Given the description of an element on the screen output the (x, y) to click on. 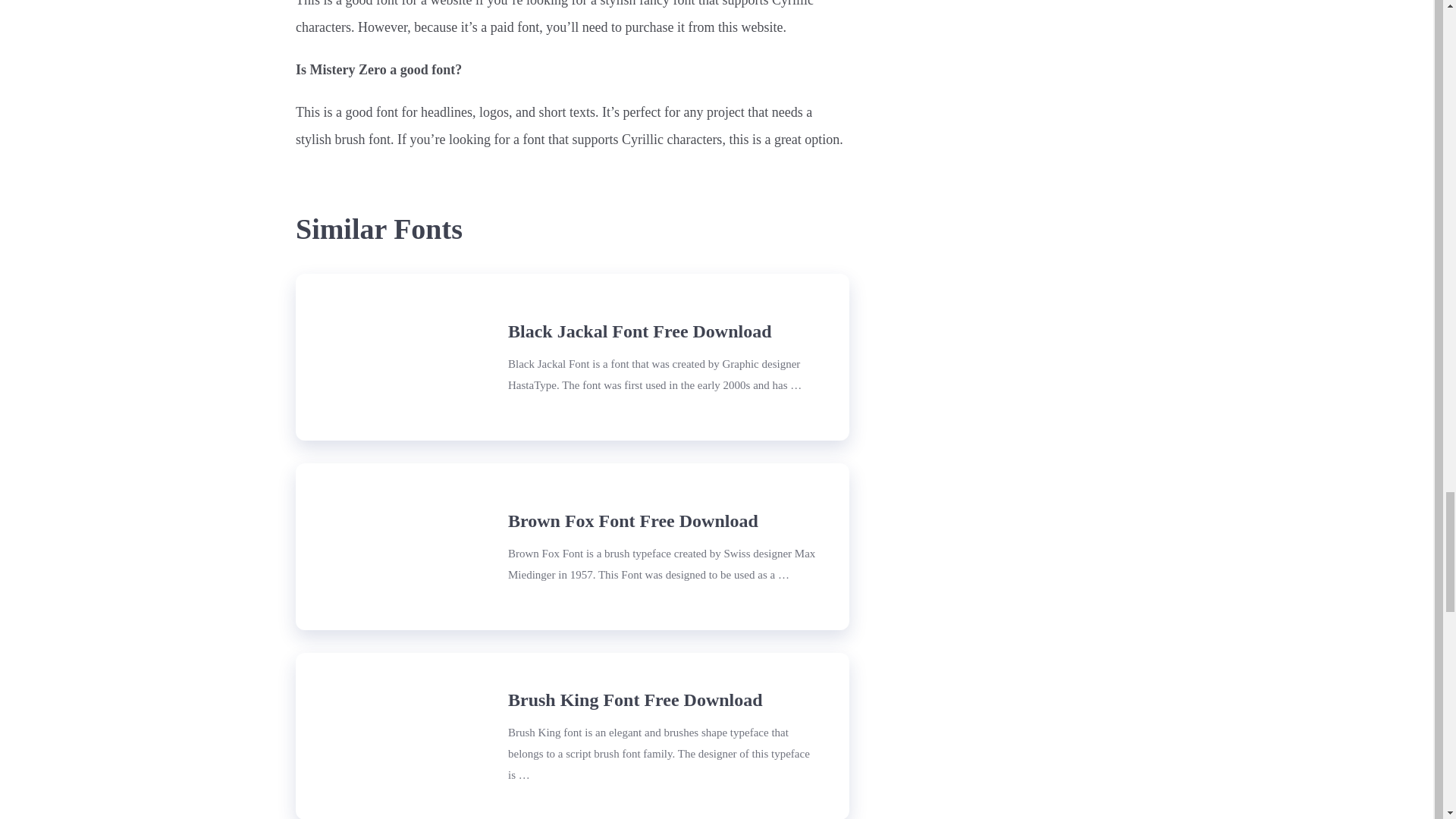
Brown Fox Font Free Download (633, 521)
Black Jackal Font Free Download (389, 356)
Brown Fox Font Free Download (389, 546)
Brush King Font Free Download (389, 735)
Brush King Font Free Download (635, 700)
Black Jackal Font Free Download (639, 332)
Black Jackal Font Free Download (639, 332)
Brown Fox Font Free Download (633, 521)
